Given the description of an element on the screen output the (x, y) to click on. 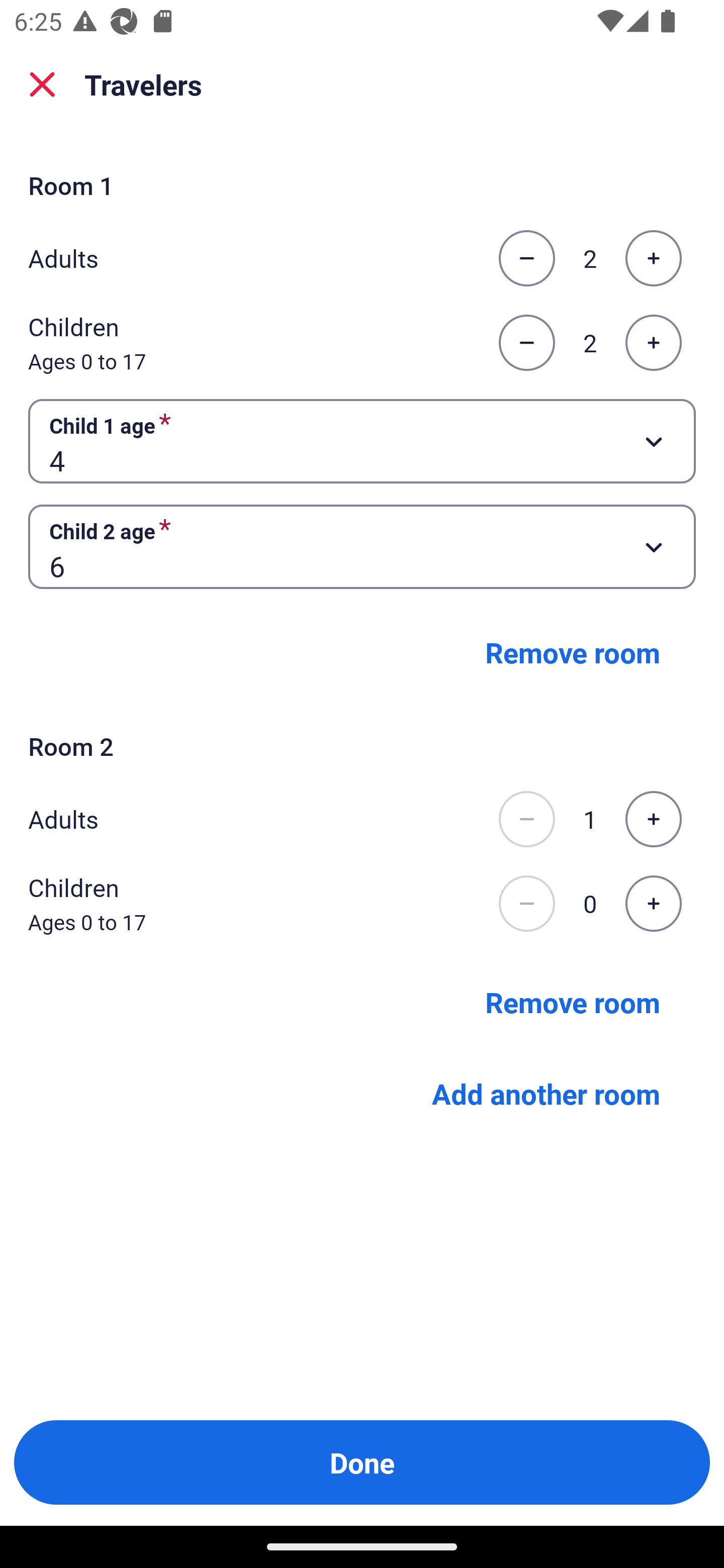
close (42, 84)
Decrease the number of adults (526, 258)
Increase the number of adults (653, 258)
Decrease the number of children (526, 343)
Increase the number of children (653, 343)
Child 1 age required Button 4 (361, 440)
Child 2 age required Button 6 (361, 546)
Remove room (572, 651)
Decrease the number of adults (526, 818)
Increase the number of adults (653, 818)
Decrease the number of children (526, 902)
Increase the number of children (653, 902)
Remove room (572, 1001)
Add another room (545, 1093)
Done (361, 1462)
